Given the description of an element on the screen output the (x, y) to click on. 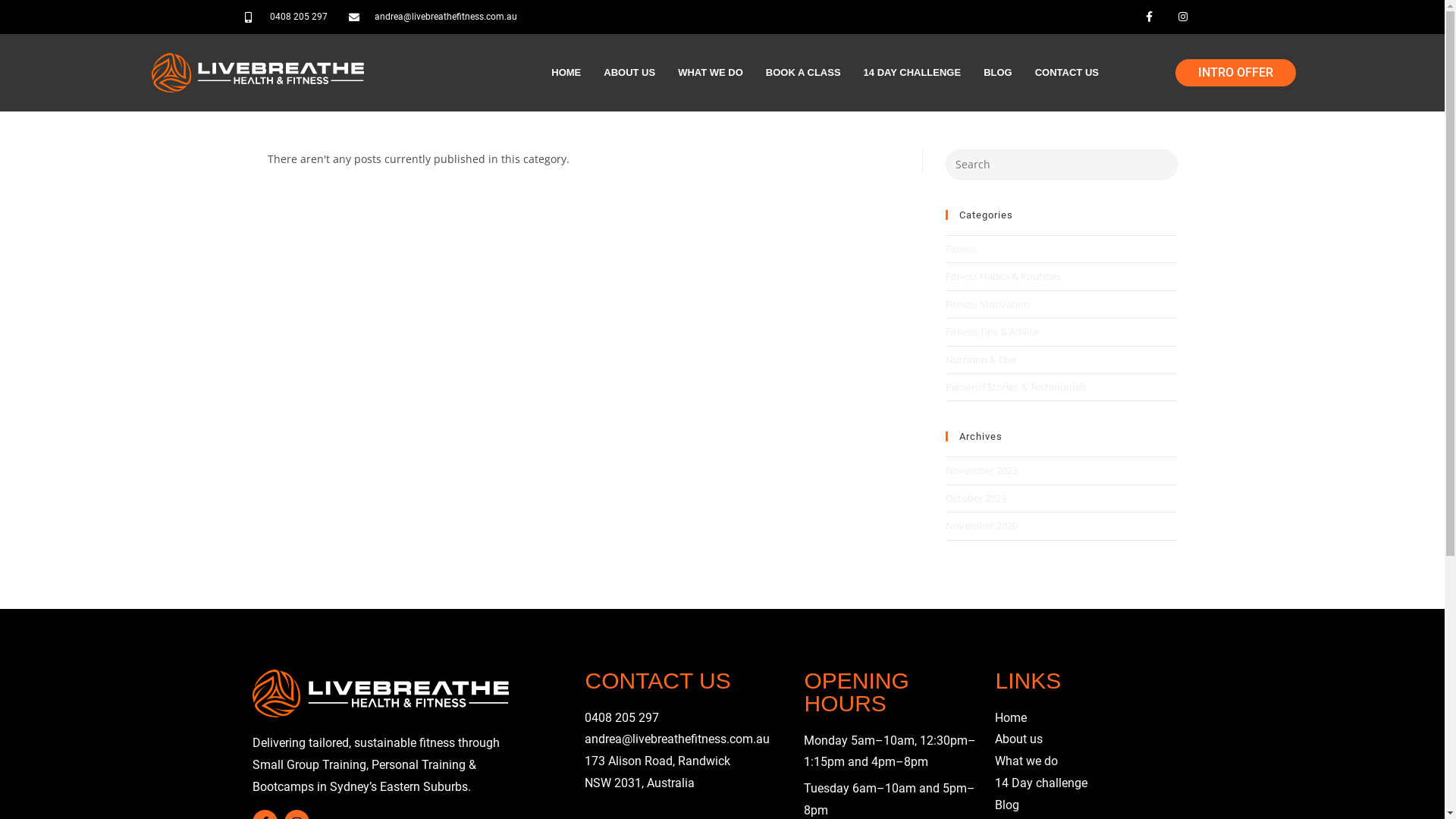
November 2020 Element type: text (980, 525)
CONTACT US Element type: text (1066, 72)
HOME Element type: text (565, 72)
November 2023 Element type: text (980, 469)
BOOK A CLASS Element type: text (803, 72)
ABOUT US Element type: text (629, 72)
BLOG Element type: text (997, 72)
Fitness Motivation Element type: text (986, 303)
Personal Stories & Testimonials Element type: text (1014, 386)
Fitness Element type: text (960, 248)
What we do Element type: text (1025, 760)
October 2023 Element type: text (974, 498)
Home Element type: text (1010, 717)
andrea@livebreathefitness.com.au Element type: text (432, 17)
14 Day challenge Element type: text (1040, 782)
Fitness Habits & Routines Element type: text (1002, 275)
Fitness Tips & Advice Element type: text (991, 331)
INTRO OFFER Element type: text (1235, 72)
14 DAY CHALLENGE Element type: text (912, 72)
Blog Element type: text (1006, 804)
About us Element type: text (1018, 738)
0408 205 297 Element type: text (285, 17)
Nutrition & Diet Element type: text (980, 359)
WHAT WE DO Element type: text (710, 72)
